Given the description of an element on the screen output the (x, y) to click on. 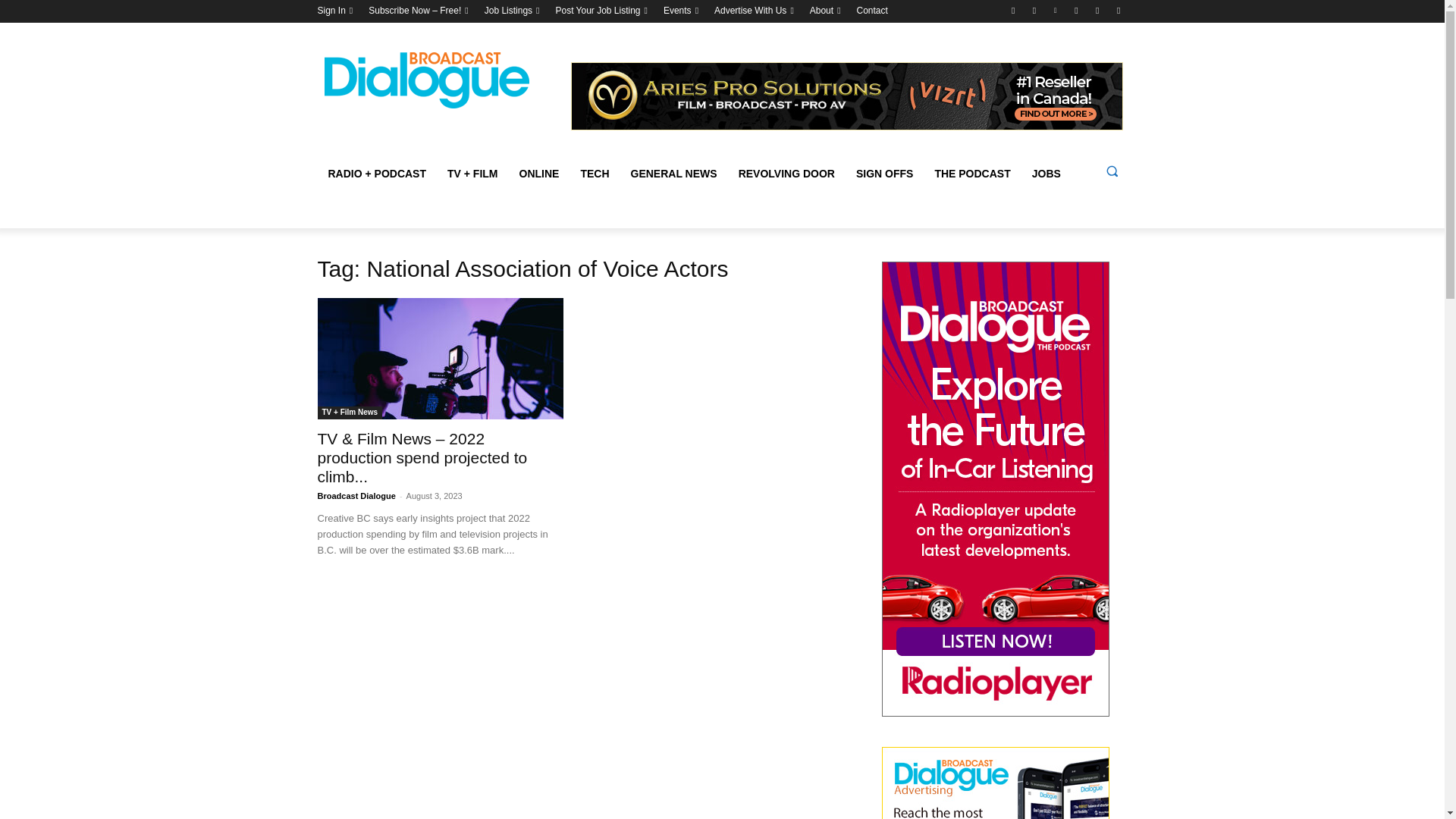
TECH (594, 173)
SIGN OFFS (884, 173)
GENERAL NEWS (674, 173)
Sign In (331, 10)
Post Your Job Listing (597, 10)
Advertise With Us (750, 10)
ONLINE (539, 173)
REVOLVING DOOR (786, 173)
THE PODCAST (971, 173)
Contact (872, 10)
Events (677, 10)
JOBS (1046, 173)
Twitter (1013, 9)
Job Listings (508, 10)
Facebook (1097, 9)
